Given the description of an element on the screen output the (x, y) to click on. 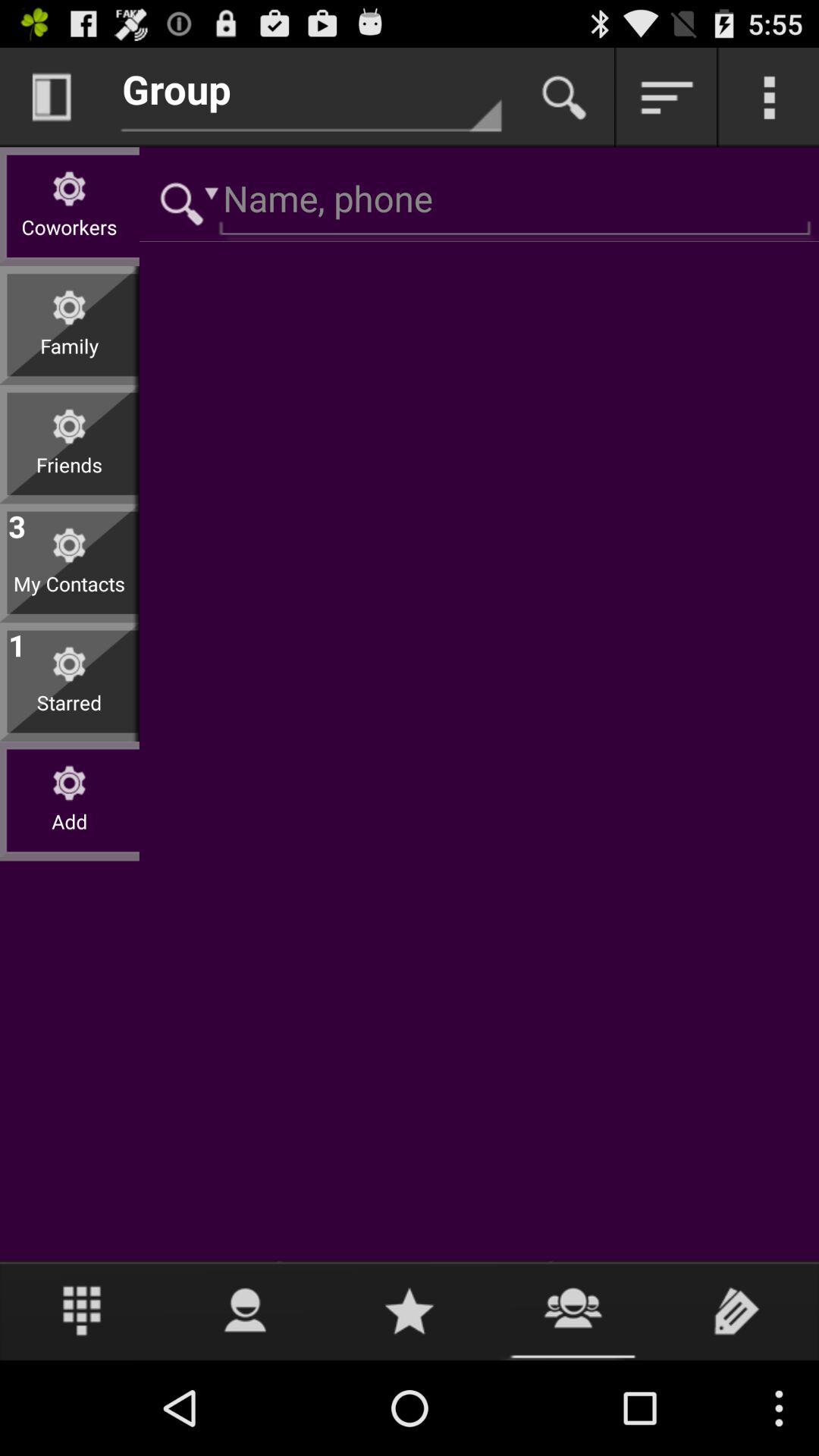
open item above 1 (69, 595)
